Given the description of an element on the screen output the (x, y) to click on. 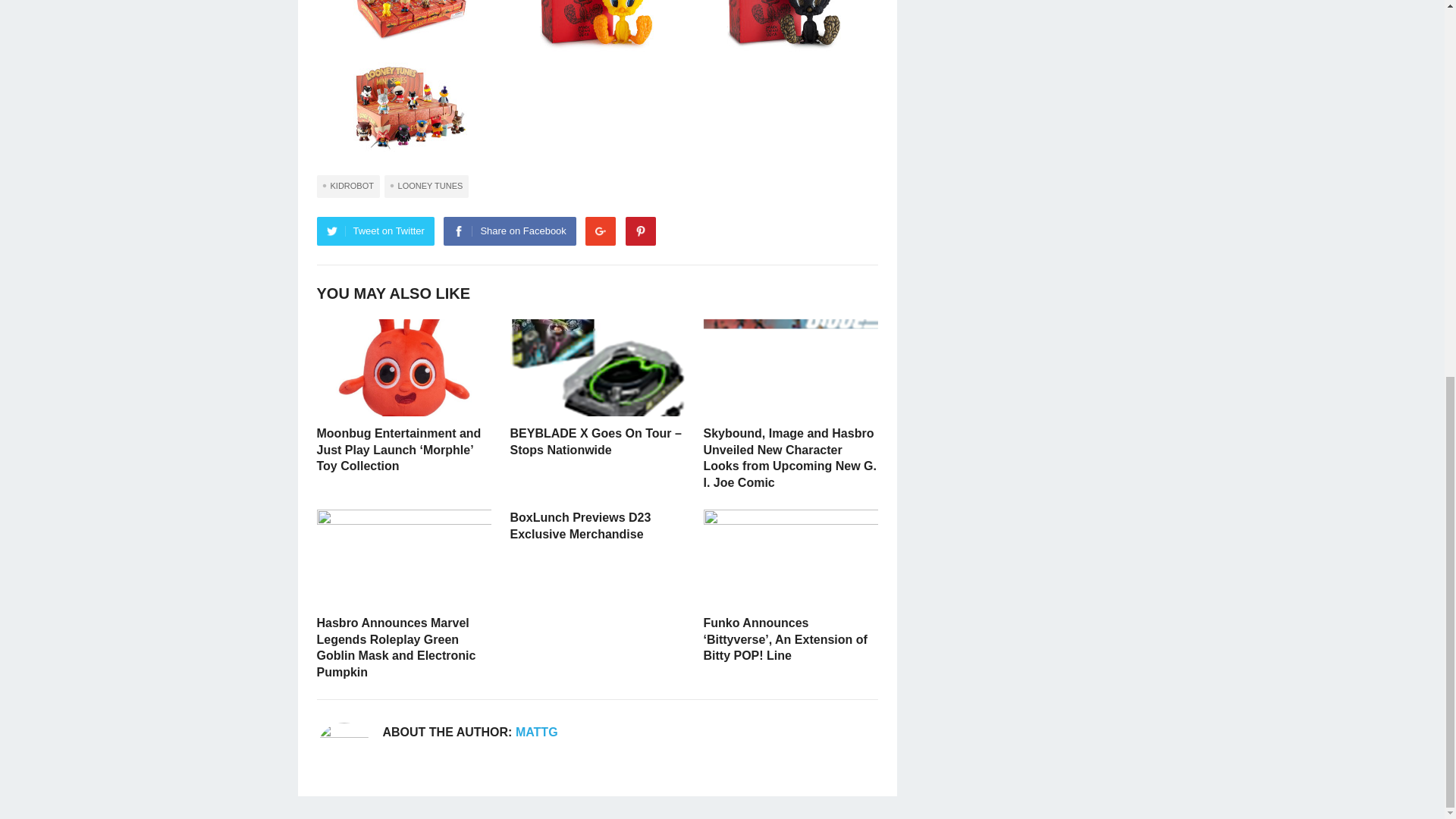
Tweet on Twitter (375, 231)
KIDROBOT (348, 186)
MATTG (536, 731)
Share on Facebook (509, 231)
Pinterest (641, 231)
LOONEY TUNES (426, 186)
BoxLunch Previews D23 Exclusive Merchandise (579, 525)
